Given the description of an element on the screen output the (x, y) to click on. 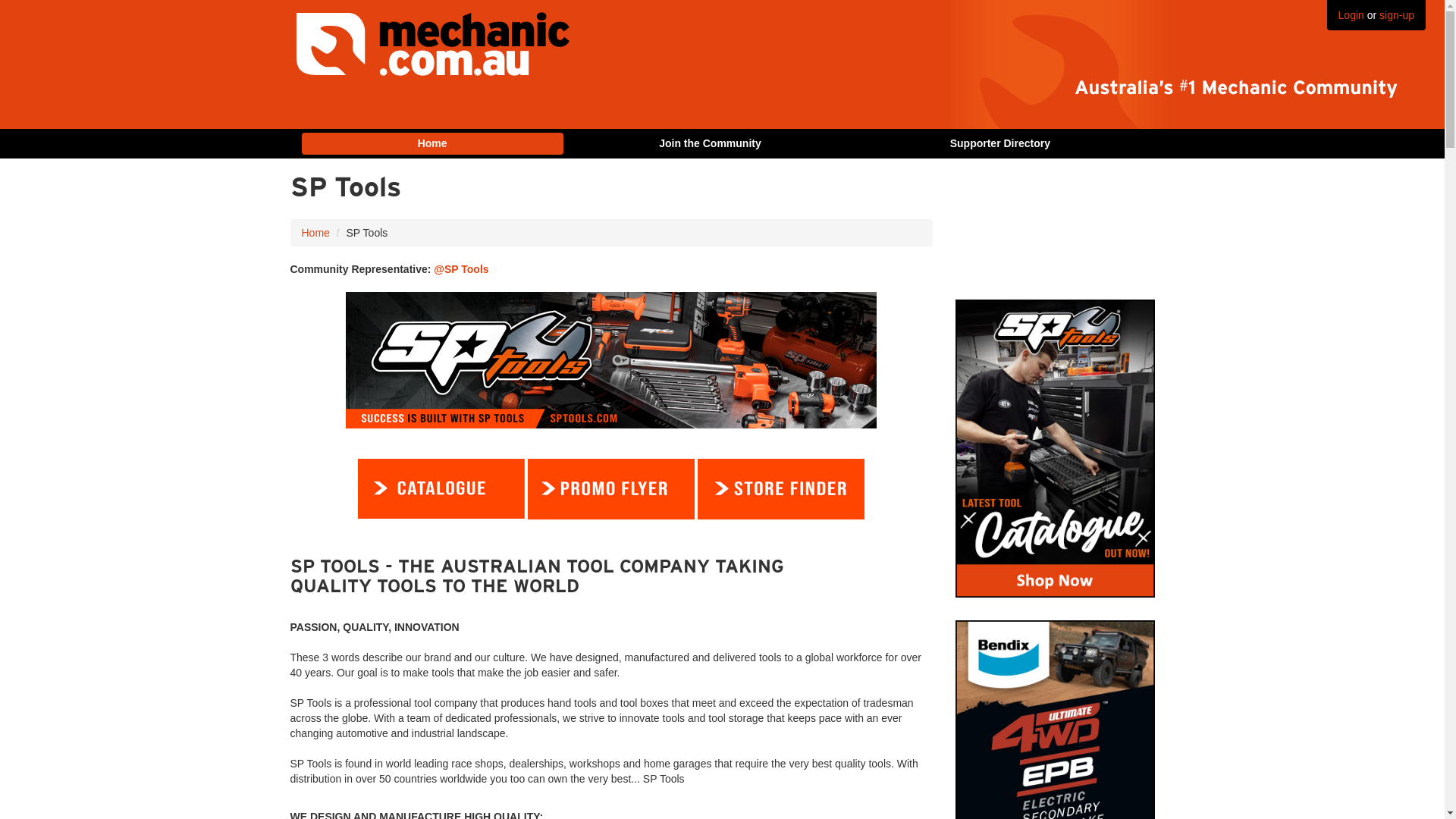
sign-up Element type: text (1396, 15)
Home Element type: text (432, 143)
Supporter Directory Element type: text (999, 143)
@SP Tools Element type: text (460, 269)
Join the Community Element type: text (709, 143)
Login Element type: text (1351, 15)
Home Element type: text (315, 232)
